Given the description of an element on the screen output the (x, y) to click on. 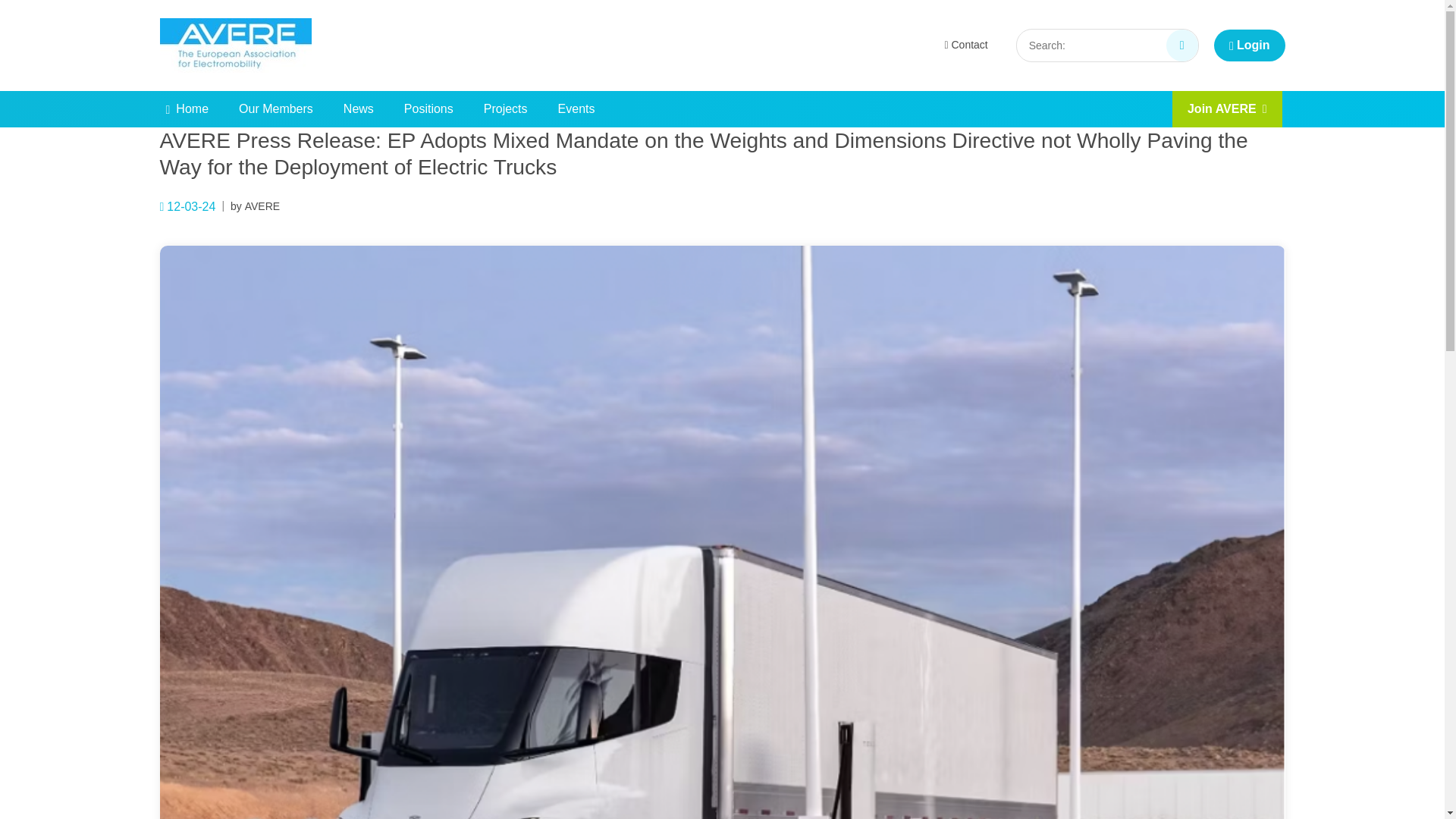
Search: (1182, 45)
Home (186, 108)
Back to Home (234, 45)
Projects (505, 108)
Events (576, 108)
Positions (428, 108)
Contact (964, 45)
Our Members (276, 108)
Join AVERE (1227, 108)
News (358, 108)
Login (1249, 45)
